Given the description of an element on the screen output the (x, y) to click on. 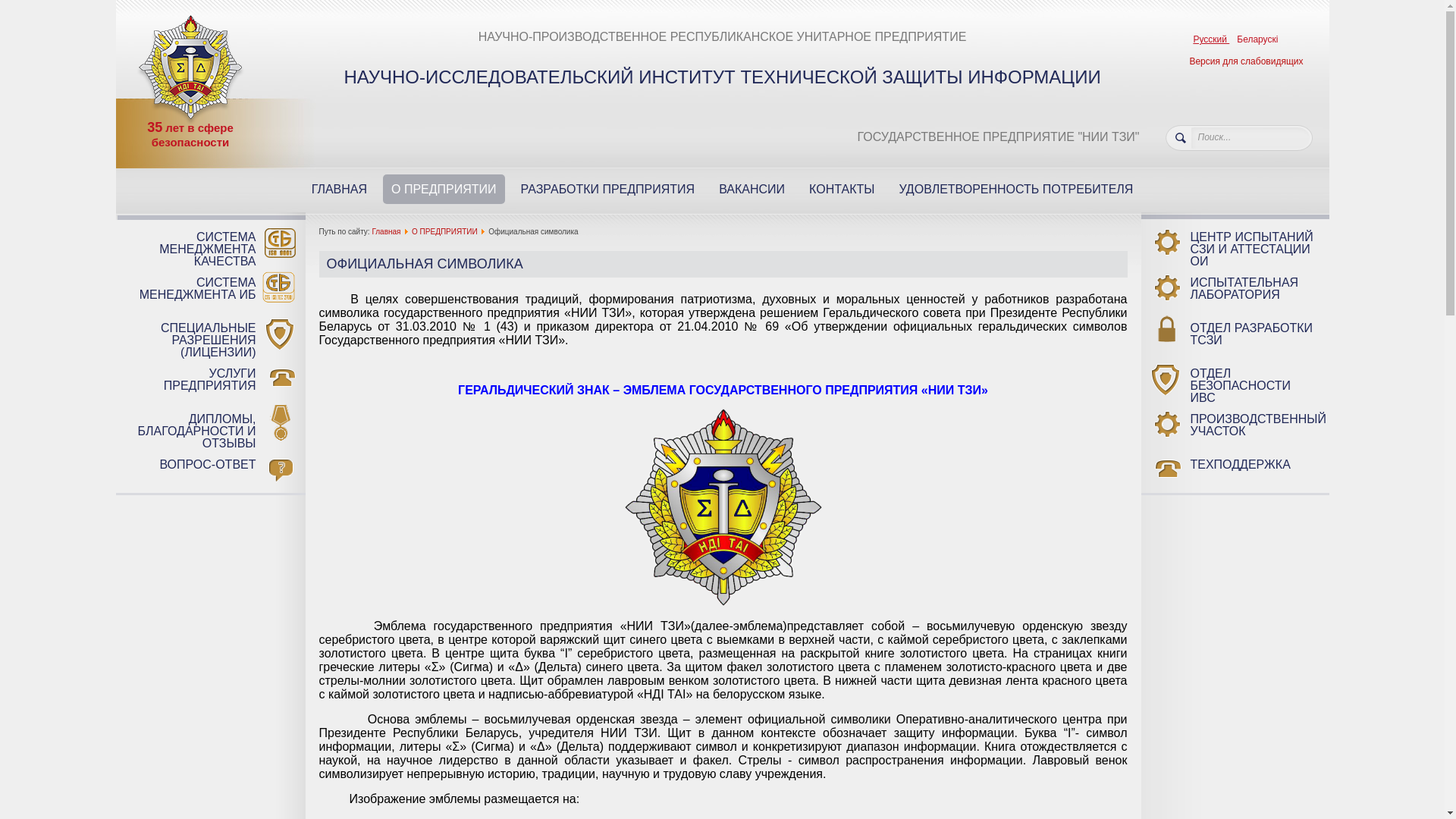
   Element type: hover (723, 506)
  Element type: text (1175, 144)
